Given the description of an element on the screen output the (x, y) to click on. 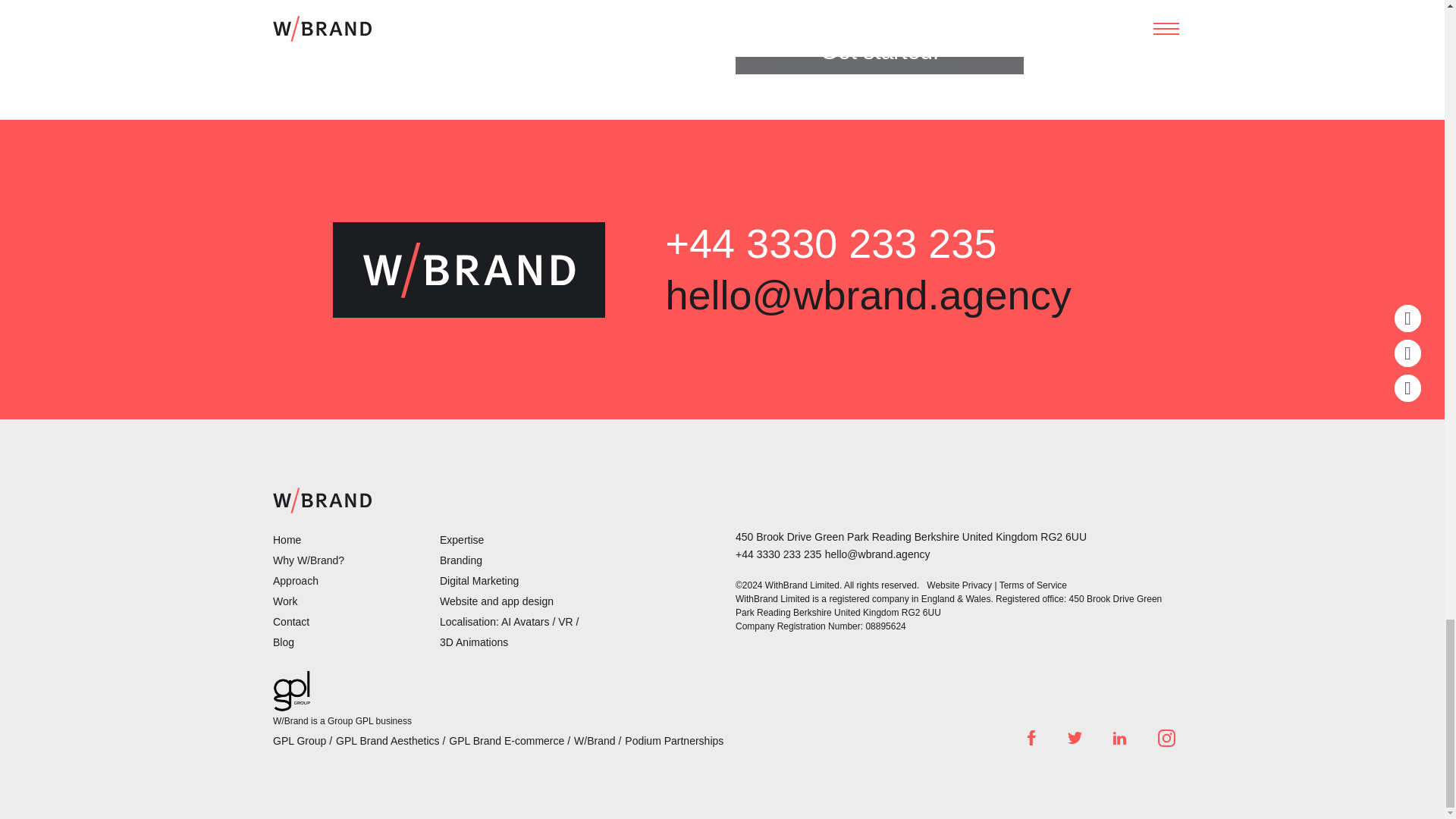
Get started! (879, 51)
privacy policy (971, 2)
